Given the description of an element on the screen output the (x, y) to click on. 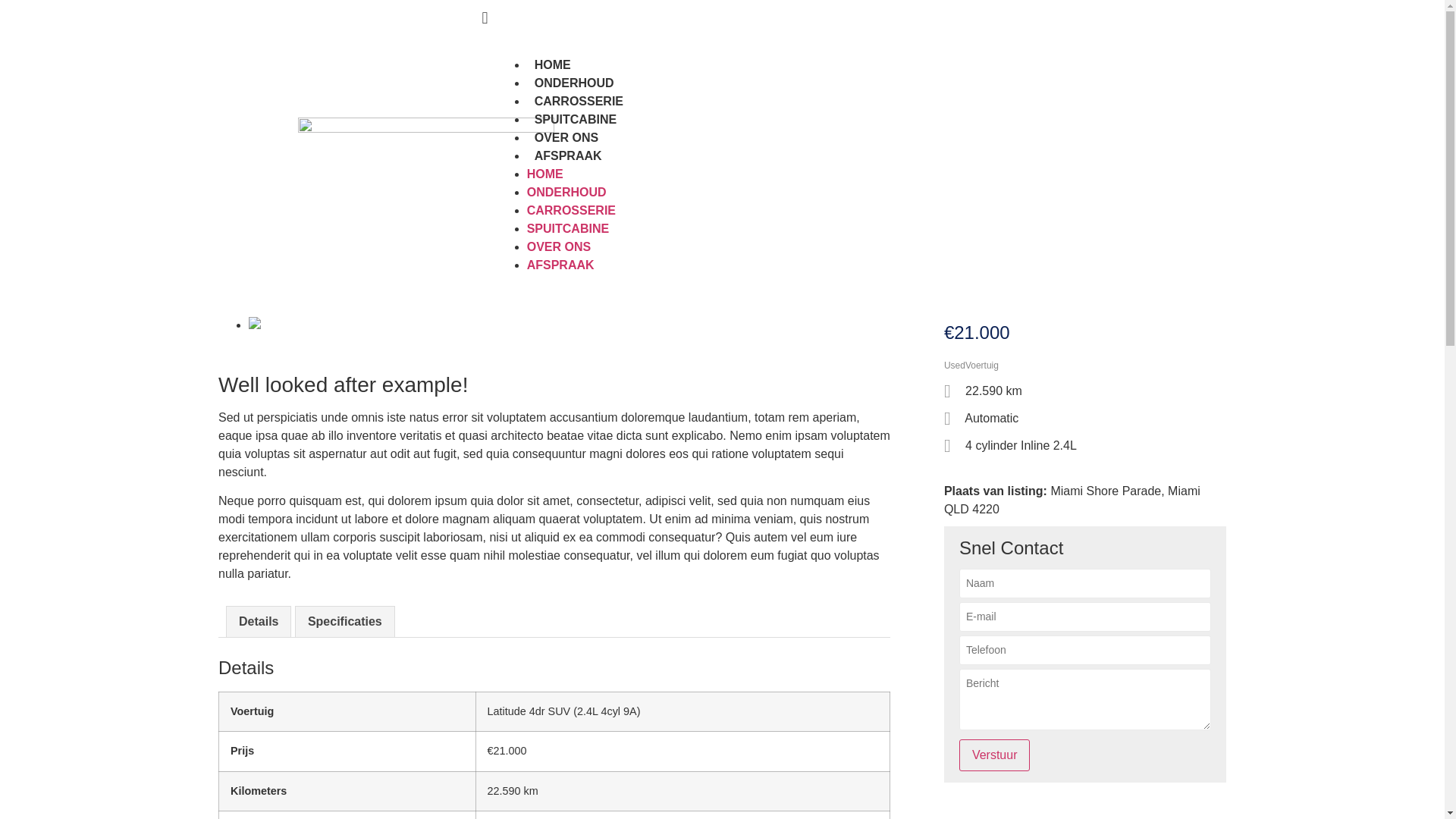
AFSPRAAK Element type: text (560, 264)
CARROSSERIE Element type: text (578, 100)
Verstuur Element type: text (994, 755)
contacteer ons Element type: text (538, 18)
ONDERHOUD Element type: text (566, 191)
HOME Element type: text (552, 64)
HOME Element type: text (545, 173)
Bel ons 089 46 68 94 Element type: text (371, 18)
SPUITCABINE Element type: text (567, 228)
Specificaties Element type: text (344, 621)
SPUITCABINE Element type: text (575, 118)
OVER ONS Element type: text (566, 137)
CARROSSERIE Element type: text (571, 209)
Details Element type: text (258, 621)
AFSPRAAK Element type: text (568, 155)
OVER ONS Element type: text (558, 246)
ONDERHOUD Element type: text (574, 82)
